Given the description of an element on the screen output the (x, y) to click on. 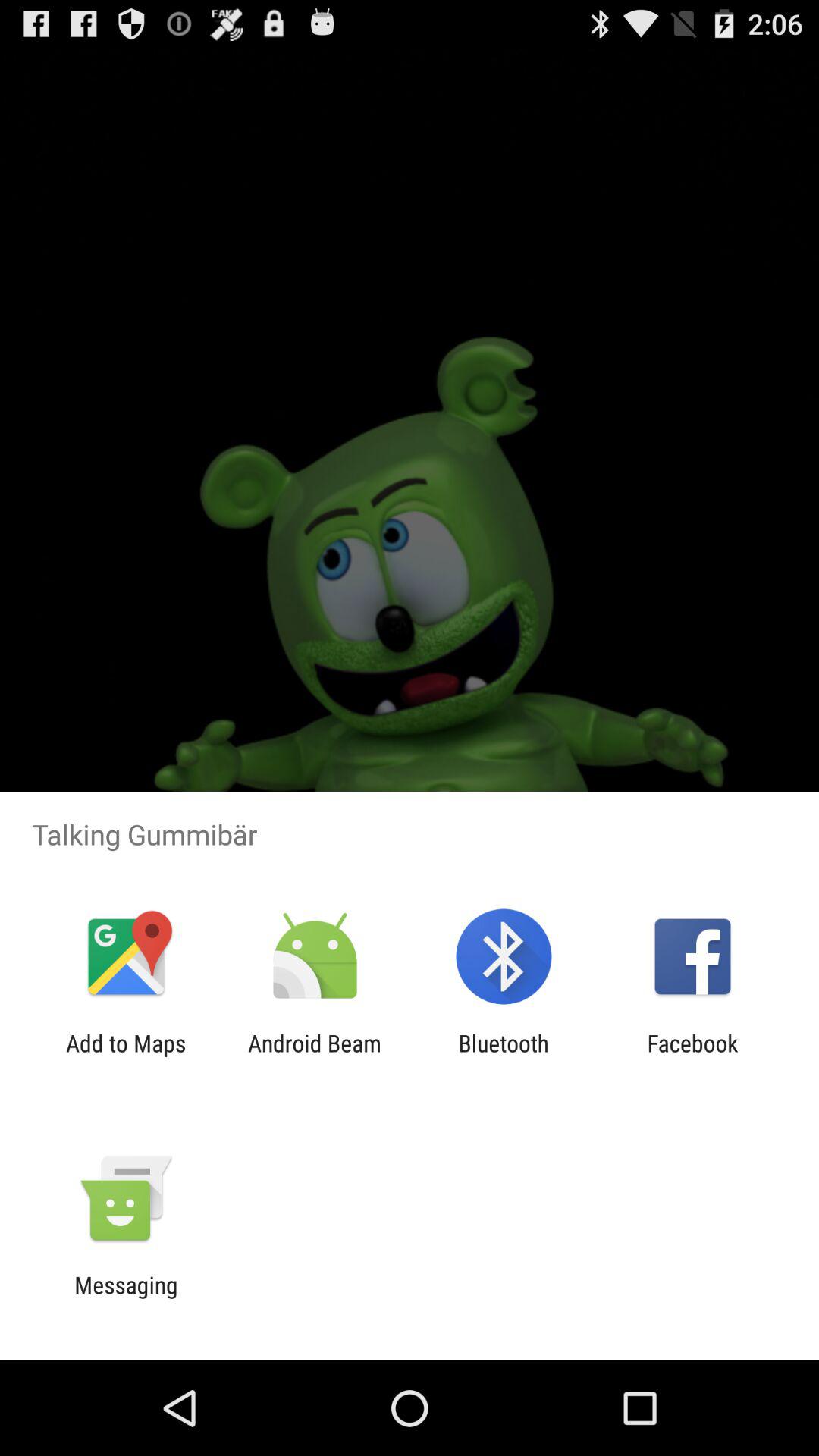
press the app to the right of the bluetooth icon (692, 1056)
